Given the description of an element on the screen output the (x, y) to click on. 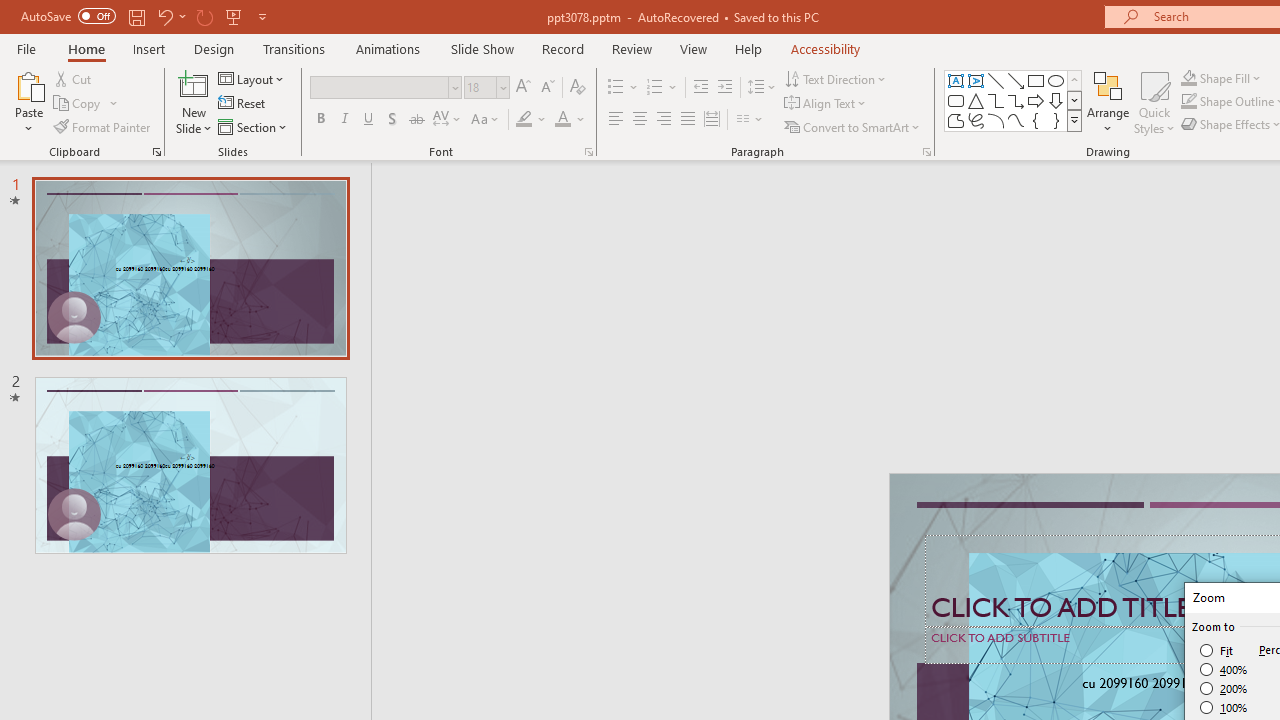
Bold (320, 119)
Reset (243, 103)
Text Direction (836, 78)
Increase Indent (725, 87)
Format Painter (103, 126)
Font Color Red (562, 119)
400% (1224, 669)
Layout (252, 78)
